Given the description of an element on the screen output the (x, y) to click on. 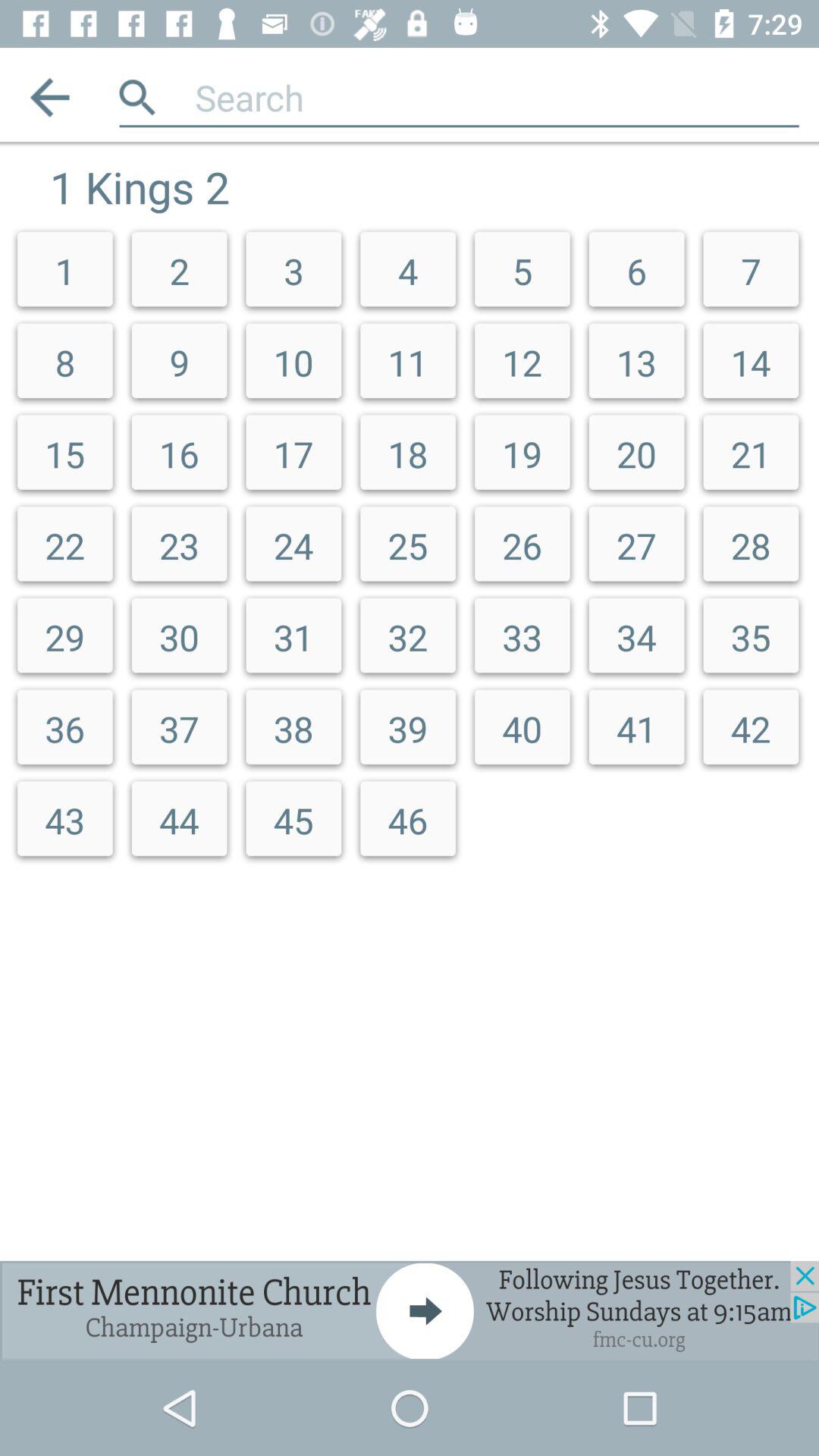
go to search (497, 97)
